Given the description of an element on the screen output the (x, y) to click on. 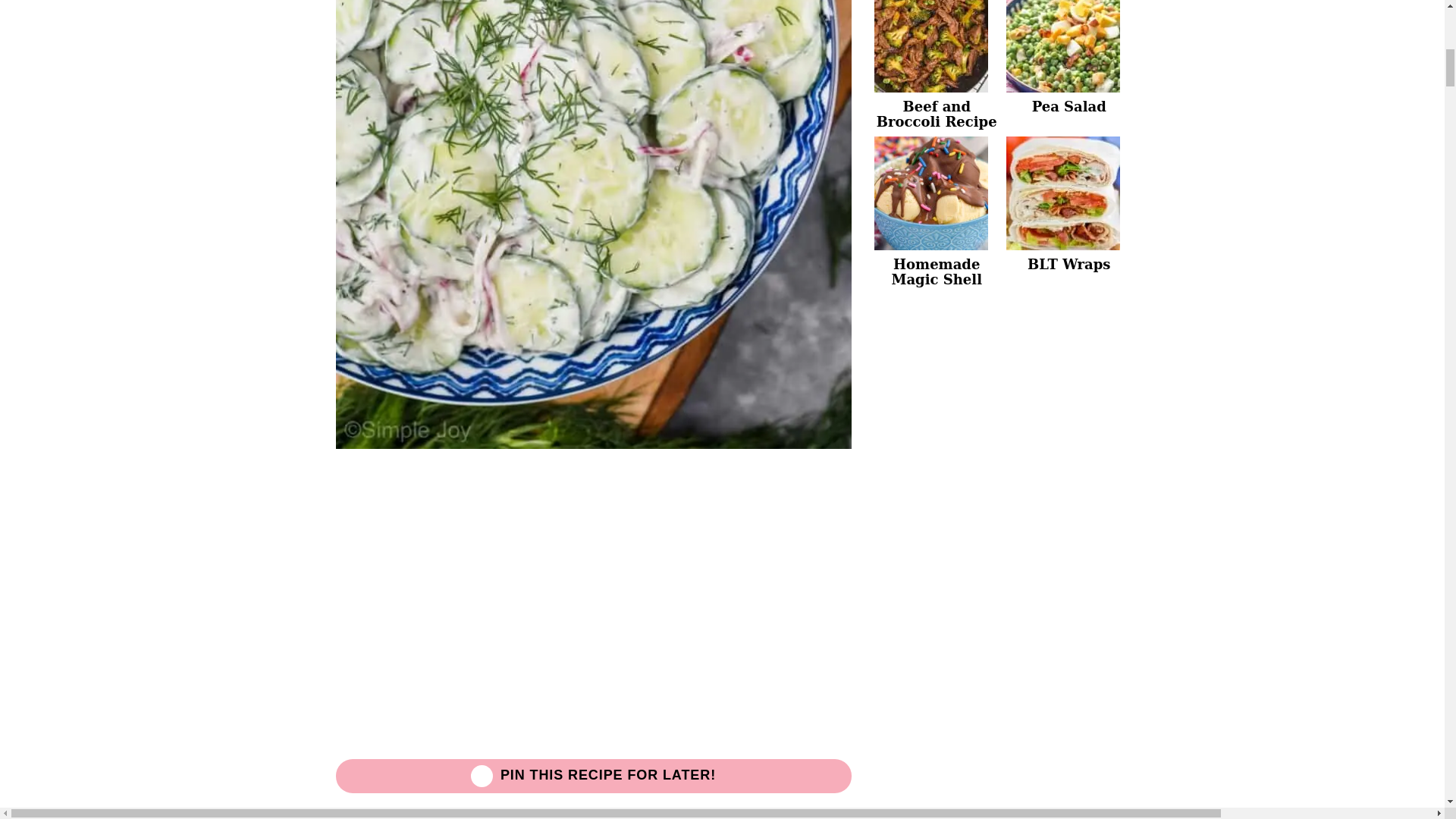
Share on Pinterest (592, 775)
